Given the description of an element on the screen output the (x, y) to click on. 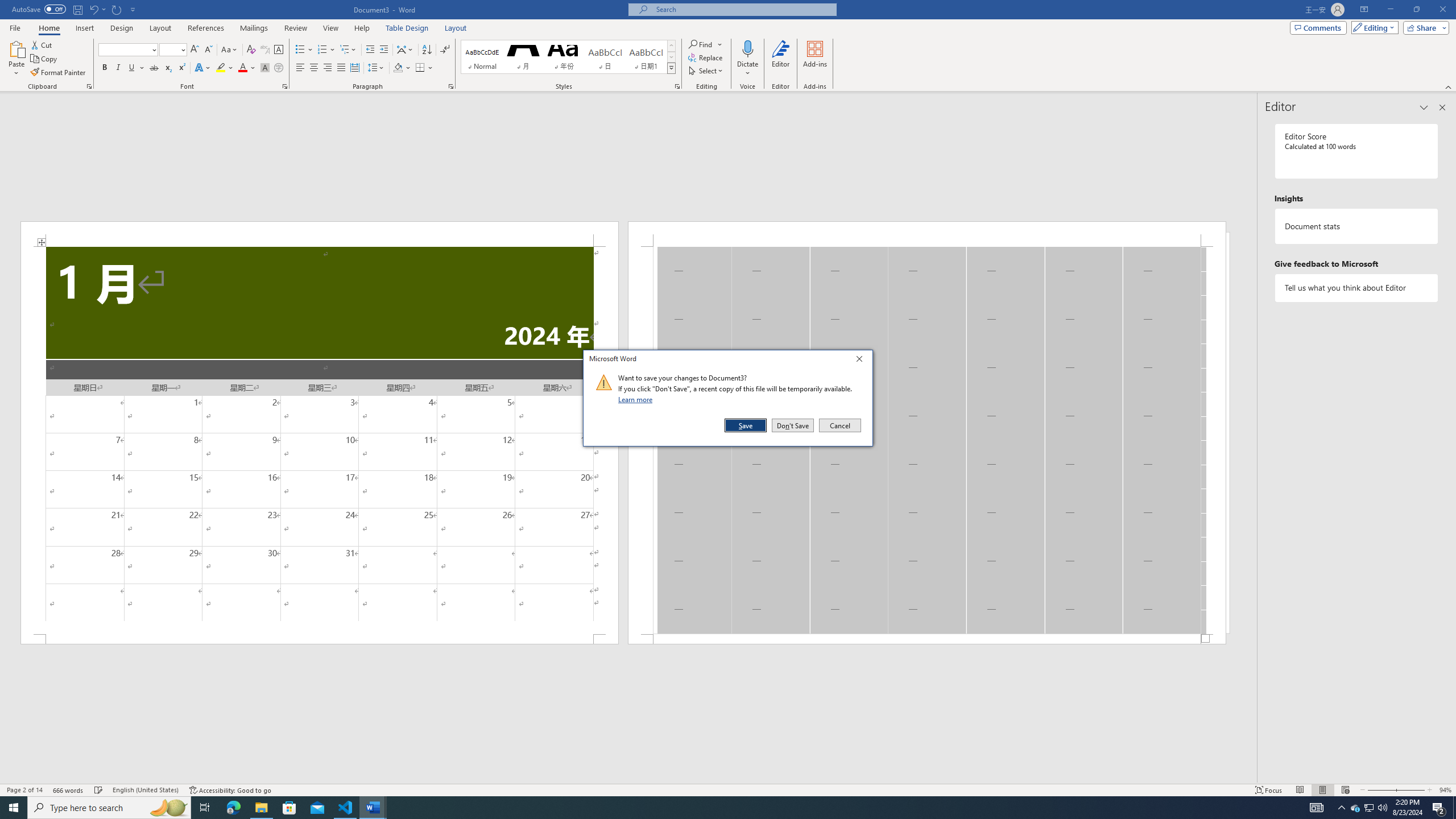
Don't Save (792, 425)
